Given the description of an element on the screen output the (x, y) to click on. 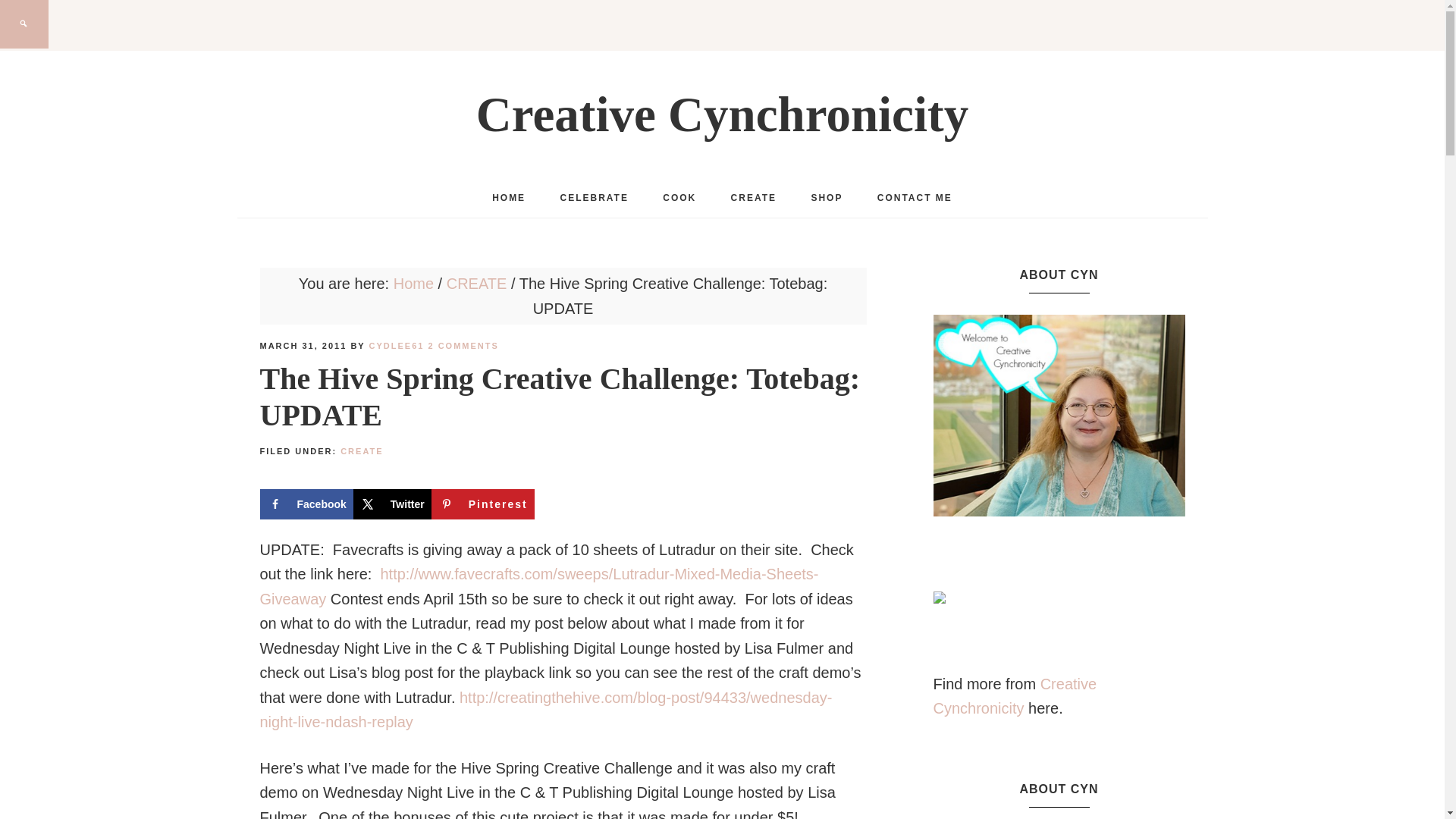
CELEBRATE (593, 197)
CREATE (754, 197)
Share on Facebook (305, 503)
Share on X (391, 503)
COOK (679, 197)
Save to Pinterest (482, 503)
HOME (508, 197)
CELEBRATE (593, 197)
COOK (679, 197)
Creative Cynchronicity (722, 113)
